Given the description of an element on the screen output the (x, y) to click on. 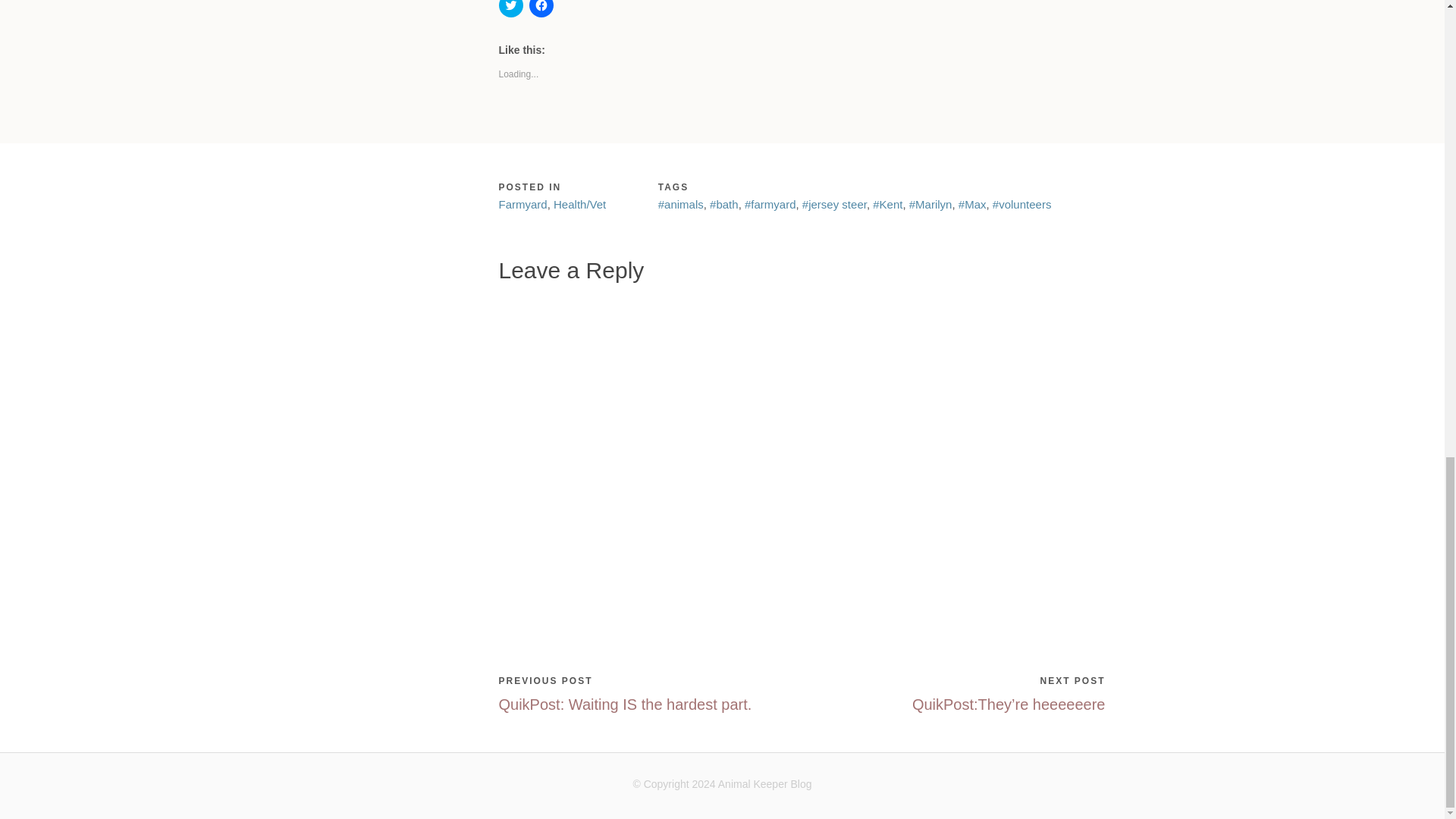
Click to share on Twitter (510, 8)
Click to share on Facebook (541, 8)
QuikPost: Waiting IS the hardest part. (625, 704)
Farmyard (523, 204)
